Given the description of an element on the screen output the (x, y) to click on. 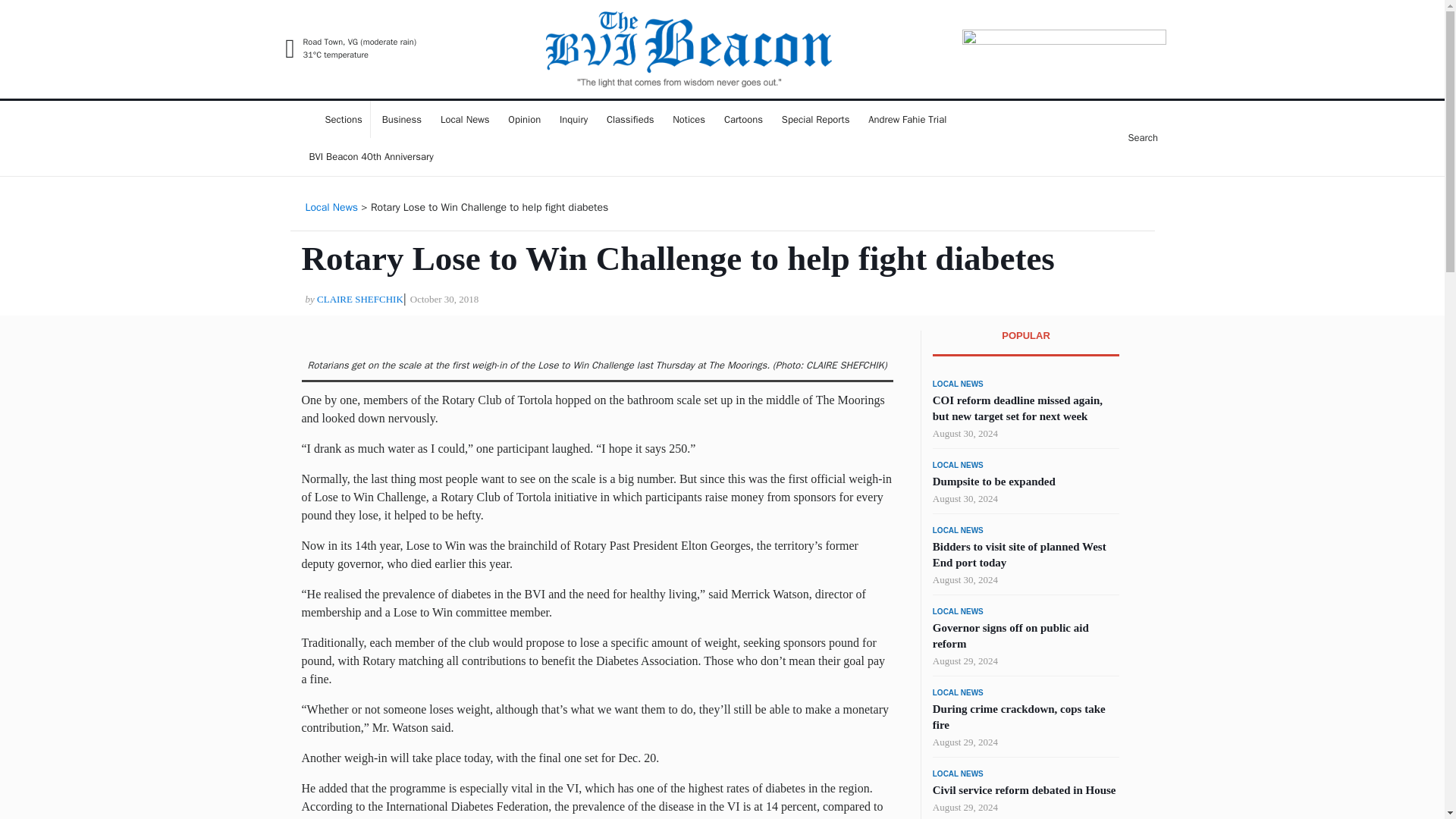
Sections (336, 119)
LOCAL NEWS (958, 384)
Special Reports (815, 119)
Notices (689, 119)
Opinion (524, 119)
Andrew Fahie Trial (906, 119)
Posts by CLAIRE SHEFCHIK (360, 298)
The BVI Beacon (485, 94)
Bidders to visit site of planned West End port today (1019, 554)
Business (401, 119)
